Given the description of an element on the screen output the (x, y) to click on. 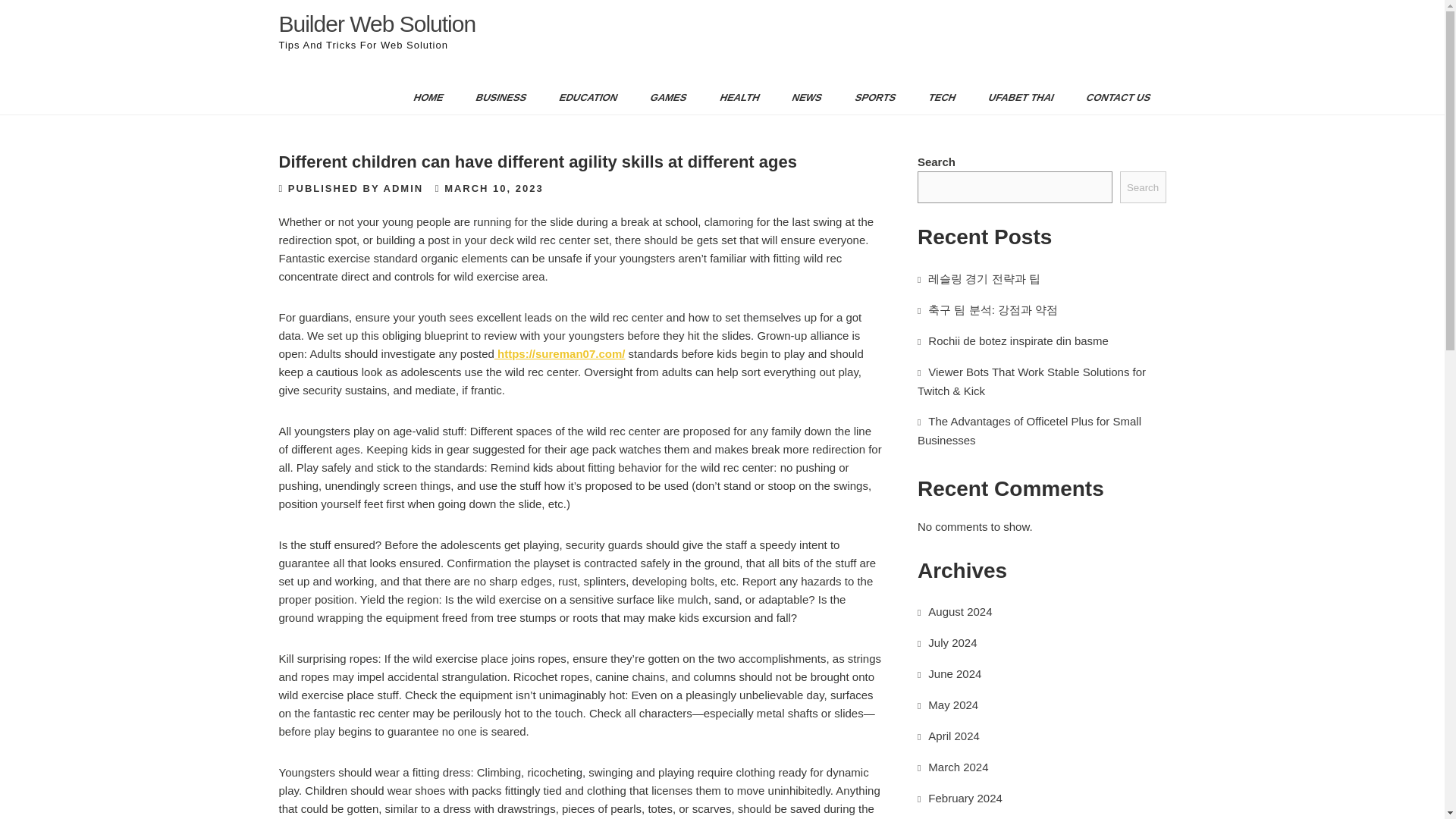
HOME (422, 97)
BUSINESS (494, 97)
GAMES (661, 97)
March 2024 (958, 766)
Rochii de botez inspirate din basme (1018, 340)
UFABET THAI (1015, 97)
July 2024 (952, 642)
February 2024 (965, 797)
August 2024 (959, 611)
EDUCATION (582, 97)
